Given the description of an element on the screen output the (x, y) to click on. 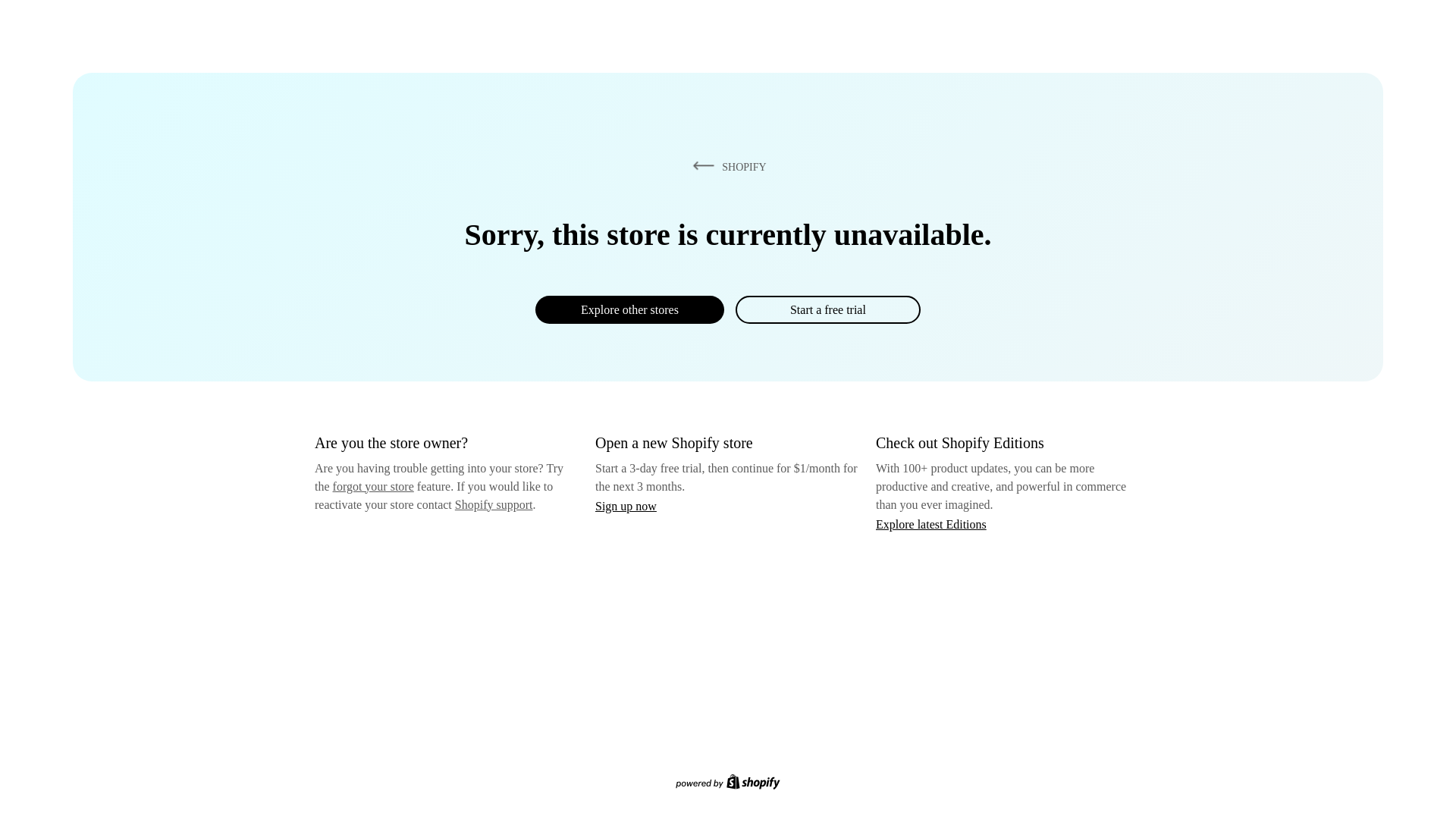
SHOPIFY (726, 166)
Start a free trial (827, 309)
forgot your store (373, 486)
Shopify support (493, 504)
Sign up now (625, 505)
Explore latest Editions (931, 523)
Explore other stores (629, 309)
